Given the description of an element on the screen output the (x, y) to click on. 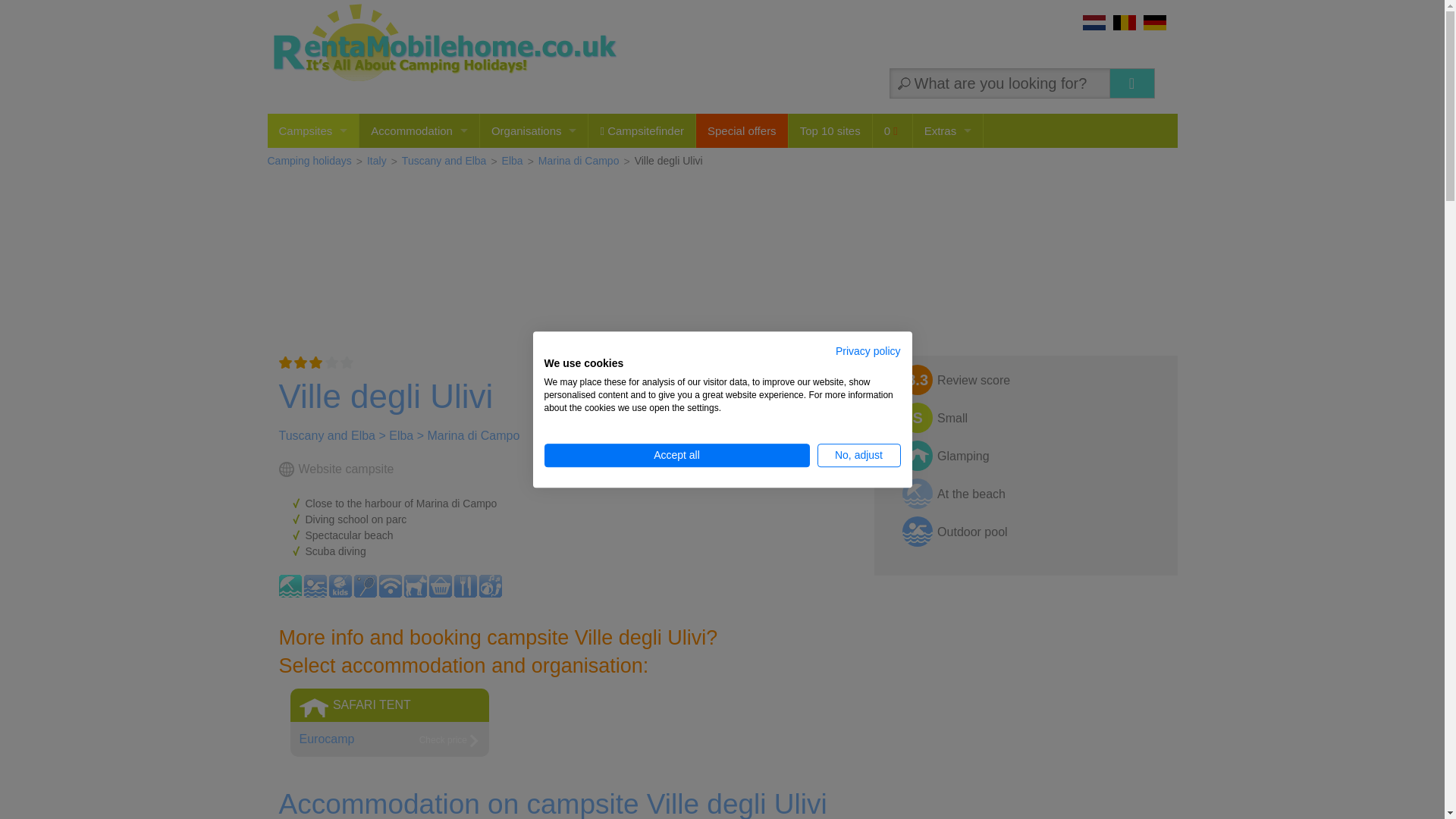
Campsites (312, 130)
Top 10 sites (830, 130)
0  (892, 130)
 Campsitefinder (641, 130)
Special offers (741, 130)
Many sports facilities (364, 585)
100 to 300 pitches (1031, 427)
Accommodation (419, 130)
Especially suited for small kids (340, 585)
Outdoor pool (314, 585)
Show favorites (892, 130)
Organisations (534, 130)
Near a Beach and Sea (290, 585)
Pets allowed in some accommodations (414, 585)
